Given the description of an element on the screen output the (x, y) to click on. 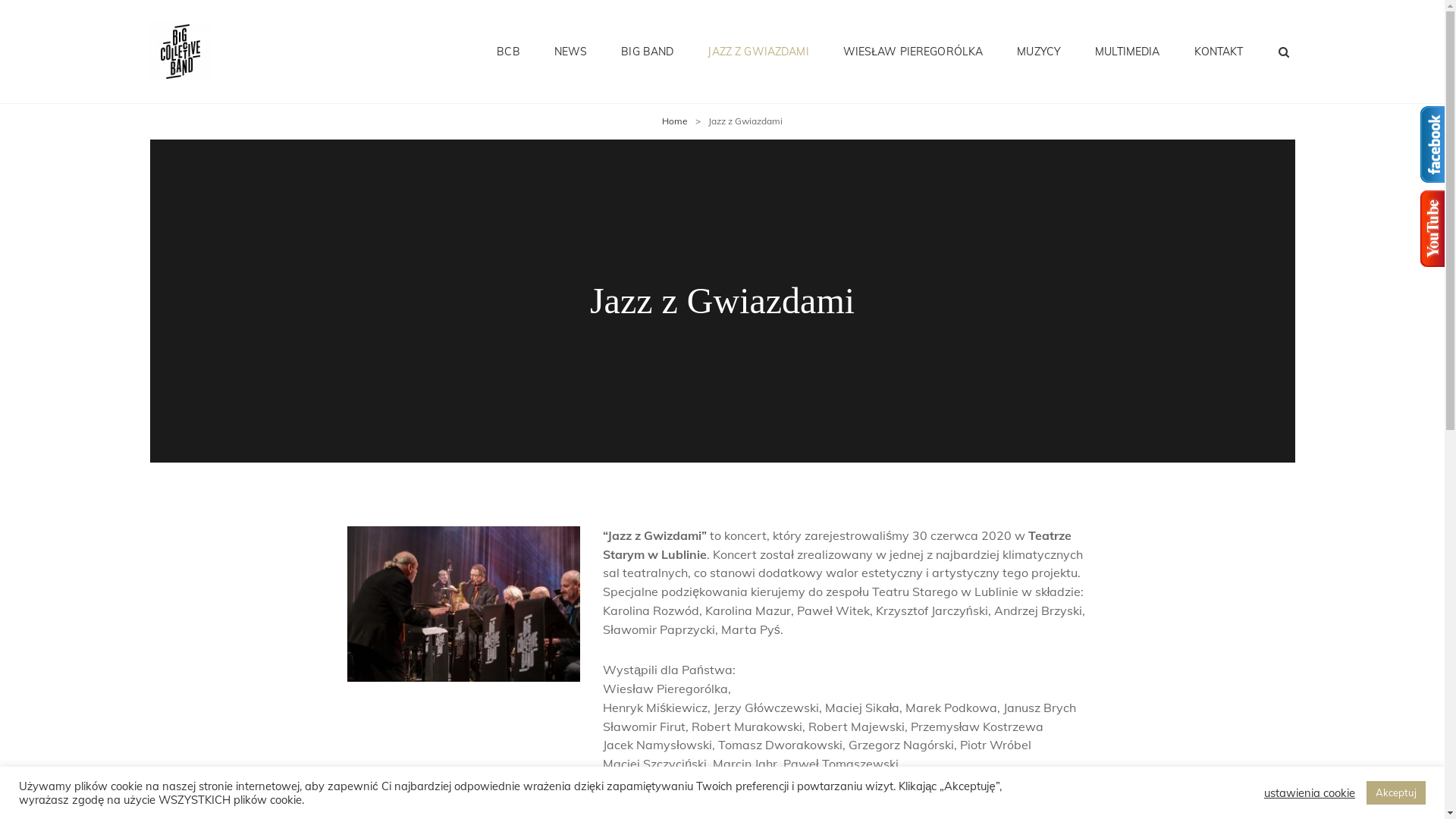
Akceptuj Element type: text (1395, 792)
BIG COLLECTIVE BAND Element type: text (362, 64)
SEARCH Element type: text (1283, 51)
MUZYCY Element type: text (1038, 51)
ustawienia cookie Element type: text (1309, 792)
NEWS Element type: text (570, 51)
fot Darek Kawka Element type: hover (463, 603)
KONTAKT Element type: text (1218, 51)
BCB Element type: text (507, 51)
MULTIMEDIA Element type: text (1126, 51)
JAZZ Z GWIAZDAMI Element type: text (757, 51)
BIG BAND Element type: text (646, 51)
Home Element type: text (674, 120)
